Given the description of an element on the screen output the (x, y) to click on. 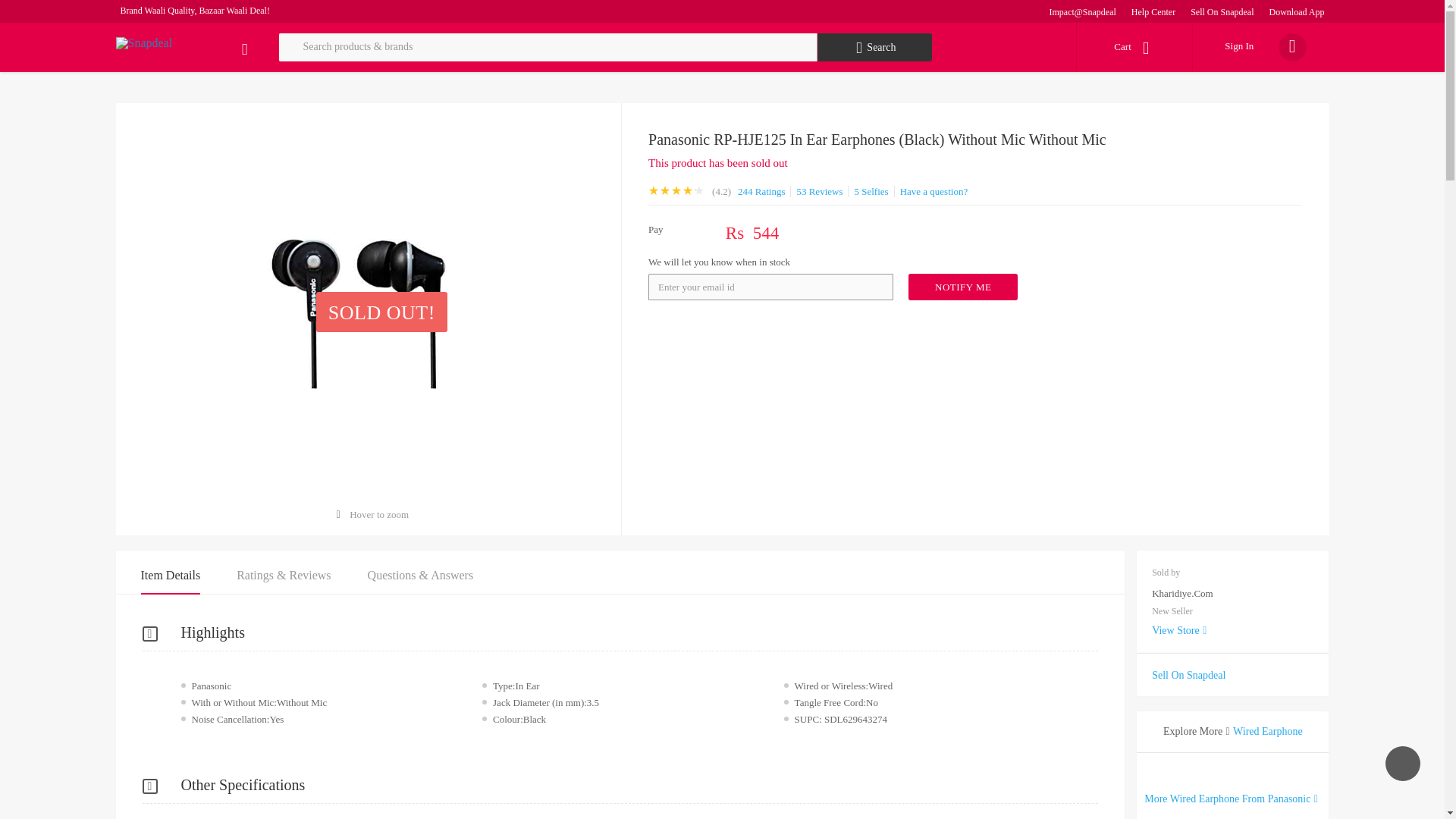
Search (874, 47)
Download App (1296, 11)
Snapdeal (143, 42)
Help Center (1152, 11)
Sell On Snapdeal (1222, 11)
998408730 (962, 286)
